Given the description of an element on the screen output the (x, y) to click on. 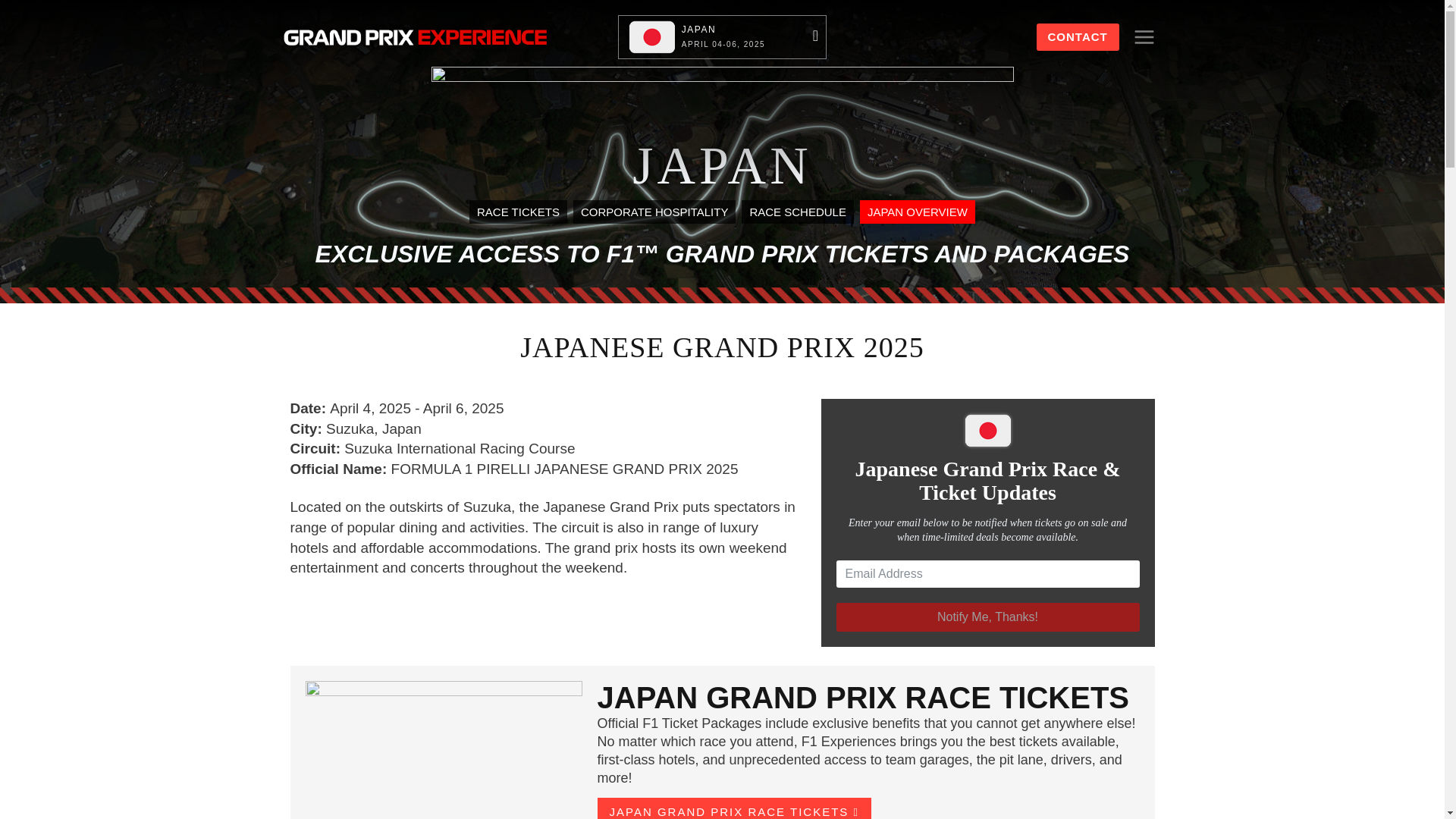
RACE TICKETS (517, 211)
JAPAN OVERVIEW (917, 211)
Notify Me, Thanks! (986, 616)
JAPAN GRAND PRIX RACE TICKETS (733, 808)
CONTACT (722, 36)
RACE SCHEDULE (1076, 36)
CORPORATE HOSPITALITY (797, 211)
